Given the description of an element on the screen output the (x, y) to click on. 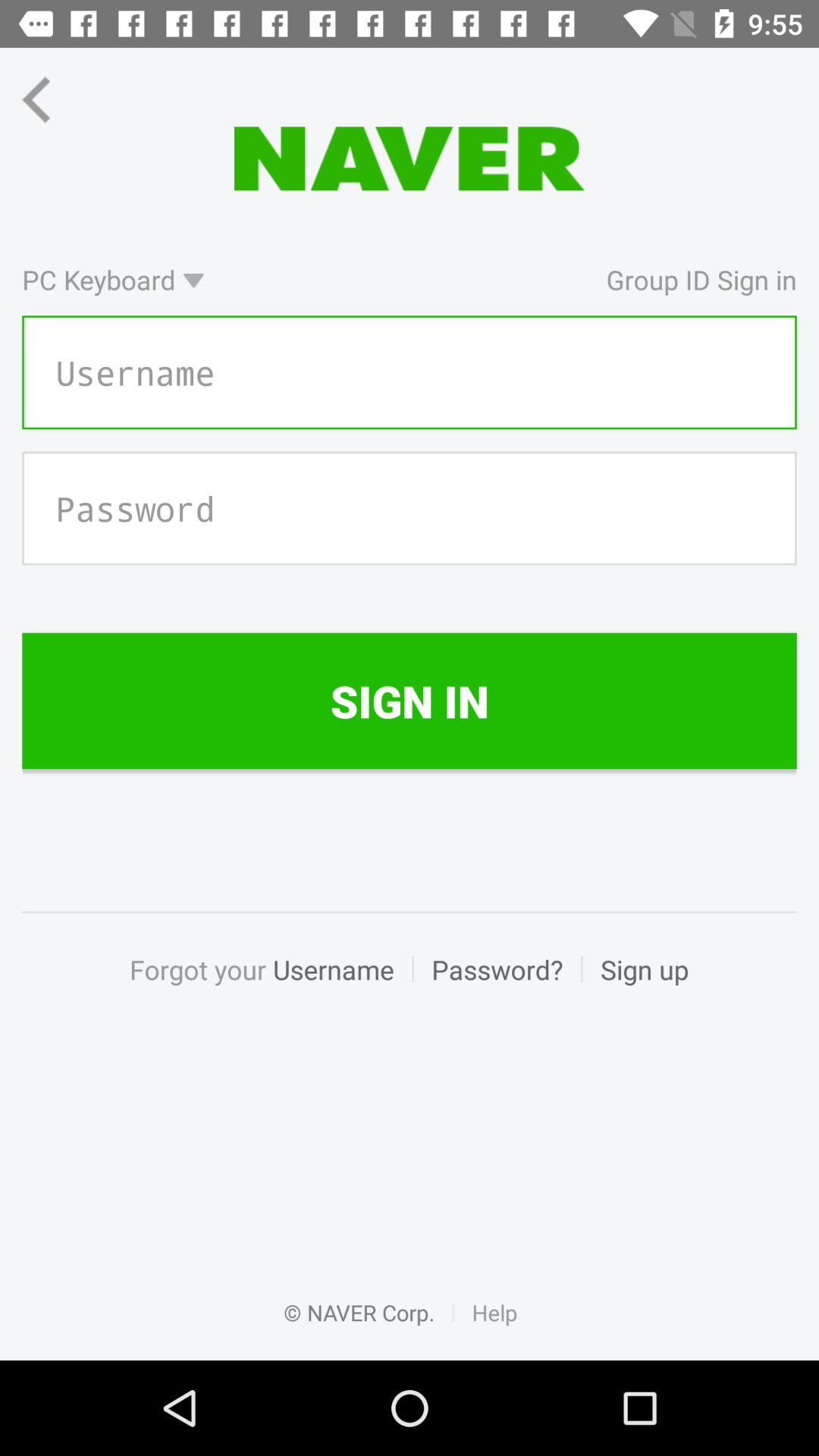
scroll to the help (494, 1328)
